Given the description of an element on the screen output the (x, y) to click on. 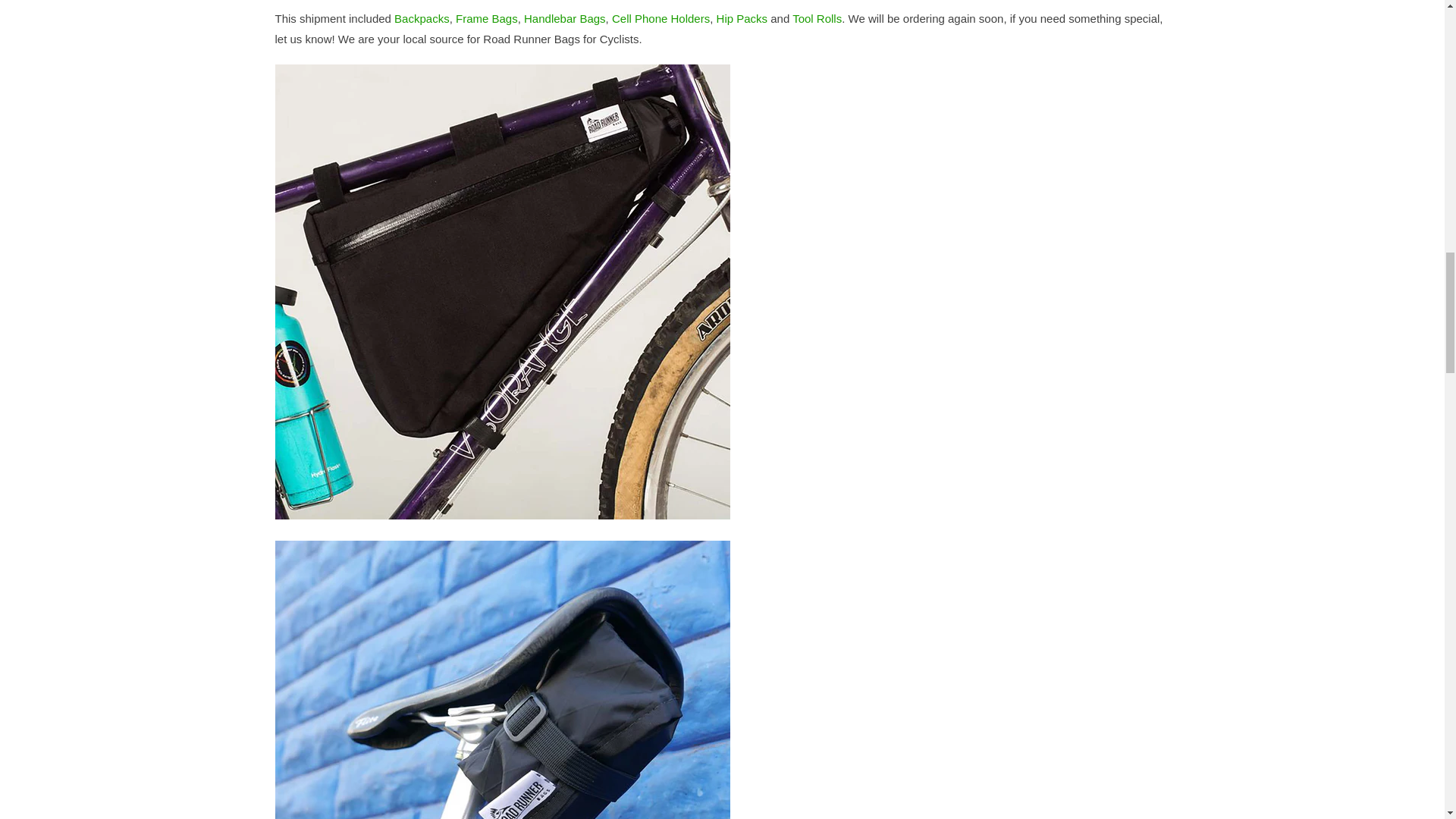
road runner lil guy hip pack for cyclists (742, 18)
road runner cycling backpack (421, 18)
road runner frame bag for bike packing cyclists (486, 18)
road runner handlebar bag for cyclists (564, 18)
road runner cell phone pouch (660, 18)
road runner tool saddle roll (816, 18)
